Given the description of an element on the screen output the (x, y) to click on. 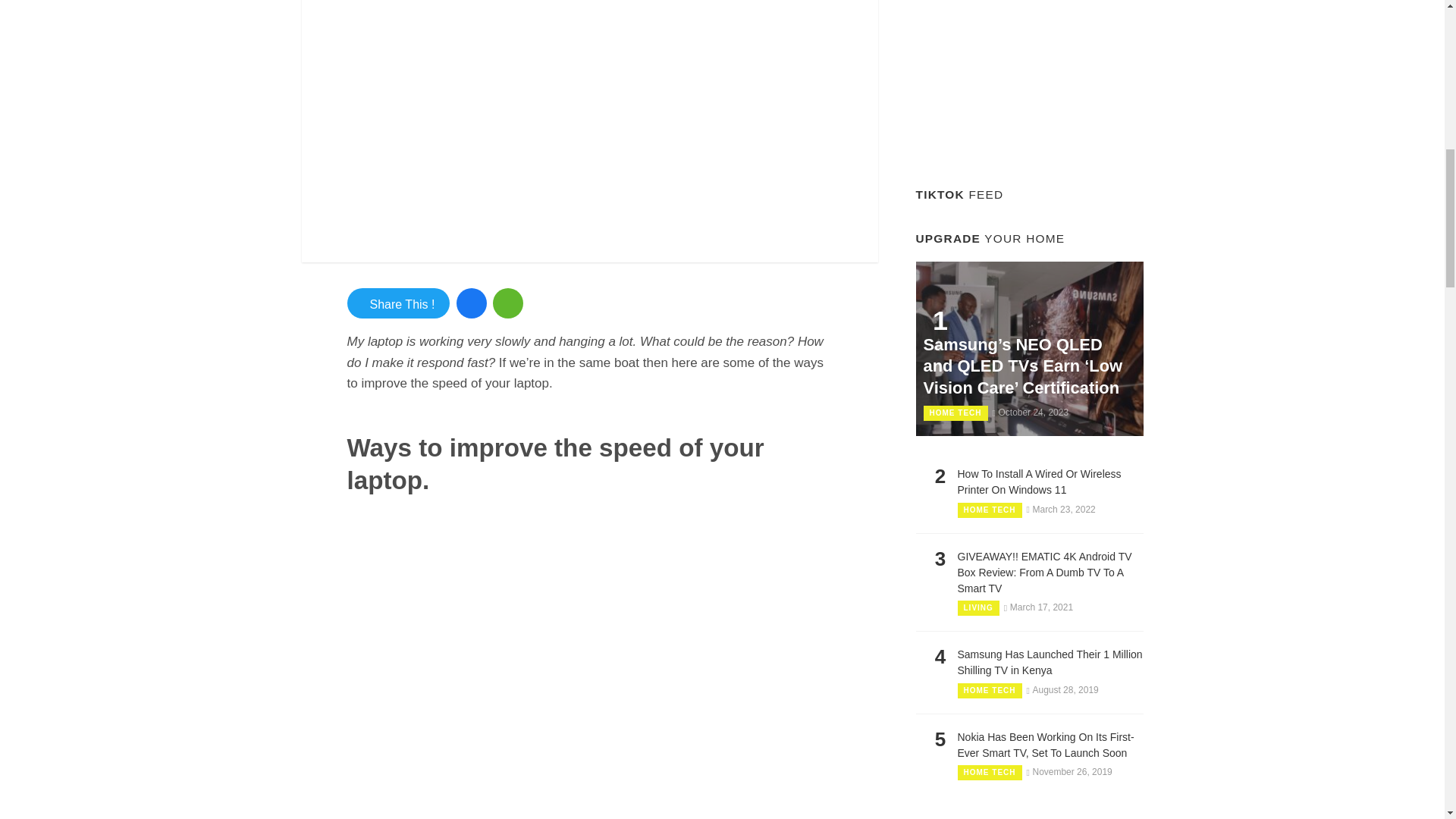
Advertisement (1028, 85)
March 23, 2022 at 9:30 am (1061, 509)
Share This ! (398, 303)
August 28, 2019 at 2:18 pm (1062, 689)
WhatsApp (507, 303)
November 26, 2019 at 7:30 am (1069, 771)
Share this on Facebook (471, 303)
October 24, 2023 at 12:33 pm (1029, 412)
Tweet this ! (398, 303)
March 17, 2021 at 4:59 pm (1038, 606)
